Given the description of an element on the screen output the (x, y) to click on. 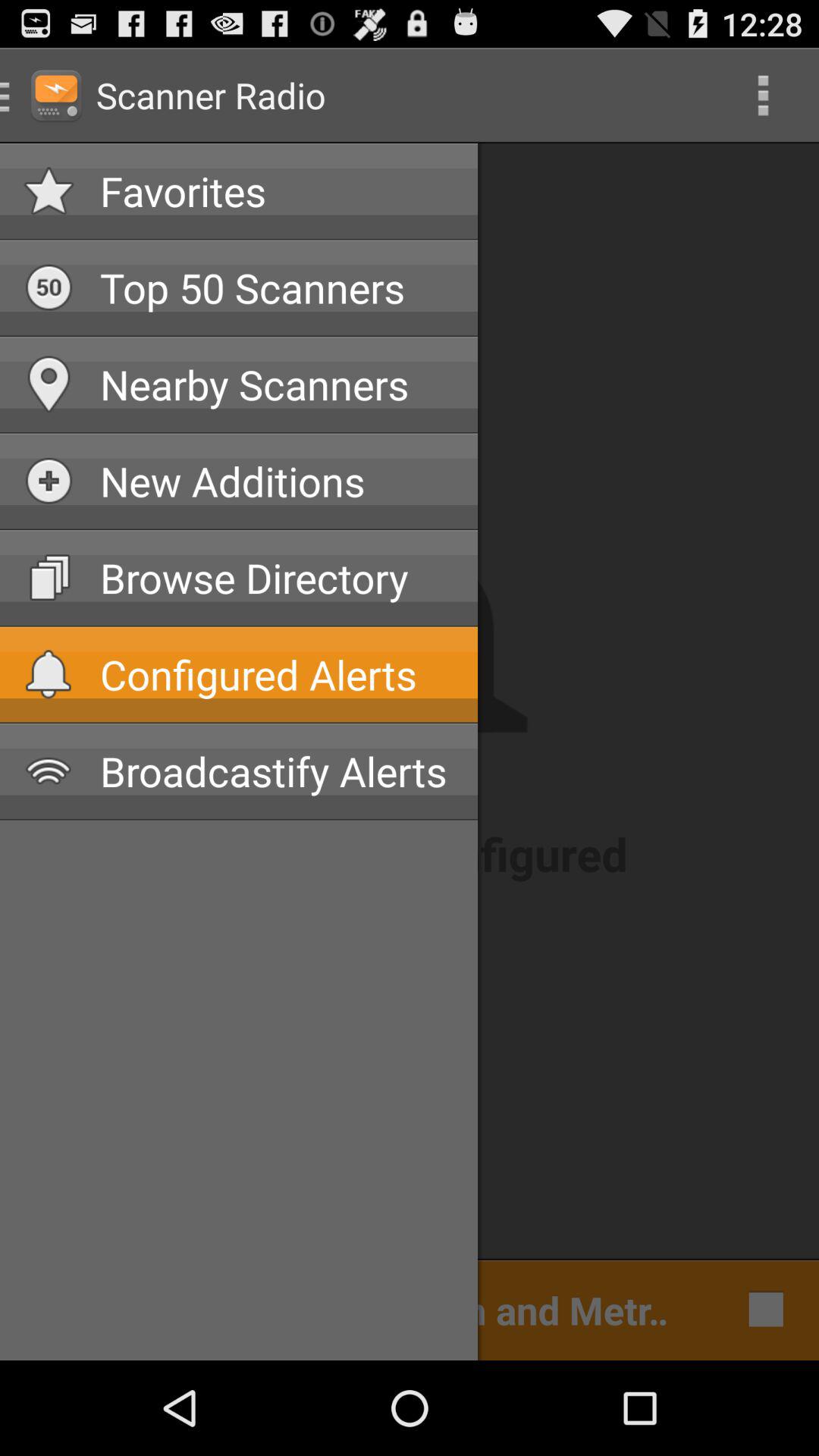
choose the icon to the right of the favorites icon (763, 95)
